Given the description of an element on the screen output the (x, y) to click on. 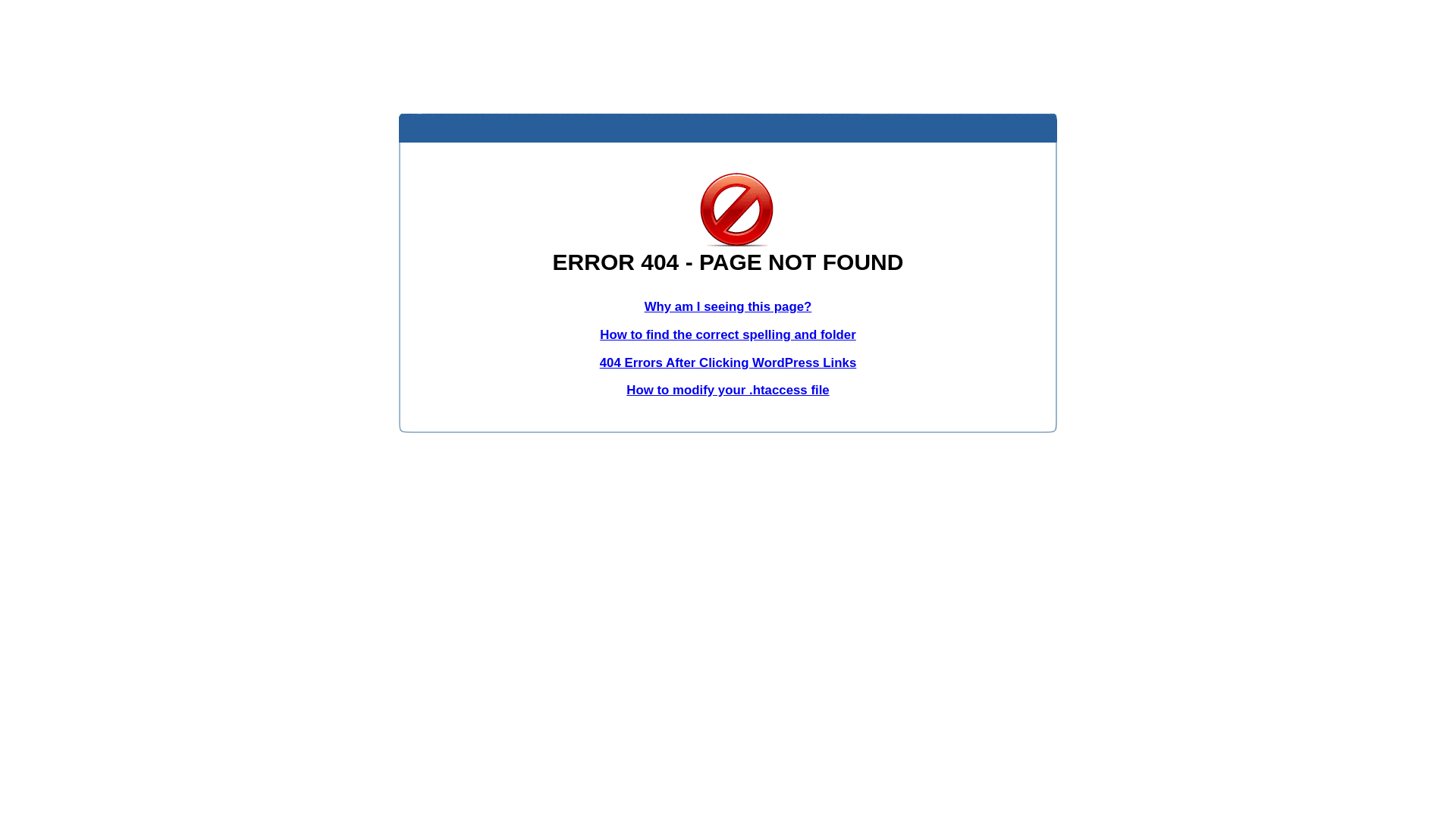
How to find the correct spelling and folder Element type: text (727, 334)
How to modify your .htaccess file Element type: text (727, 389)
404 Errors After Clicking WordPress Links Element type: text (727, 362)
Why am I seeing this page? Element type: text (728, 306)
